Given the description of an element on the screen output the (x, y) to click on. 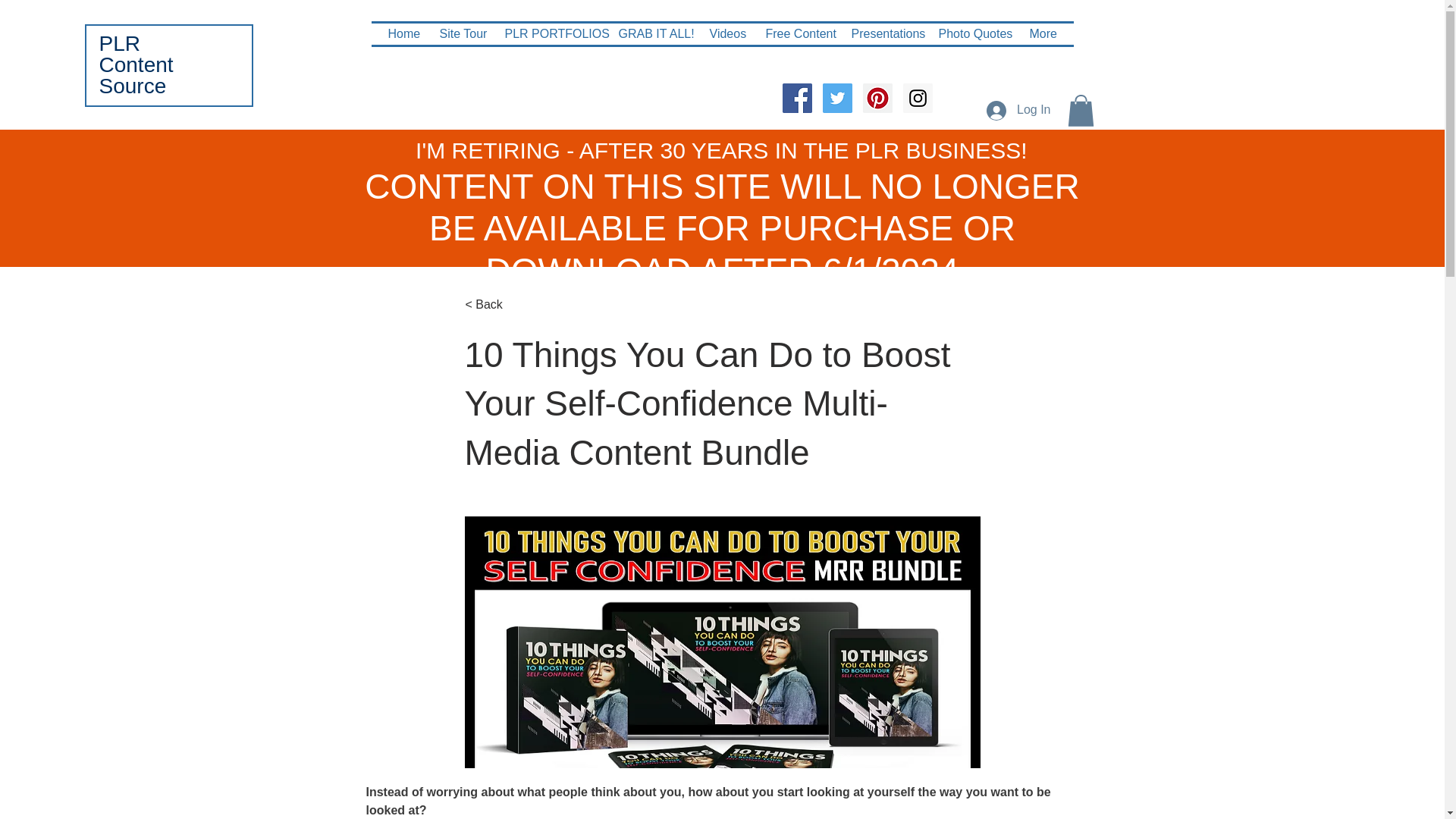
Home (403, 34)
